Given the description of an element on the screen output the (x, y) to click on. 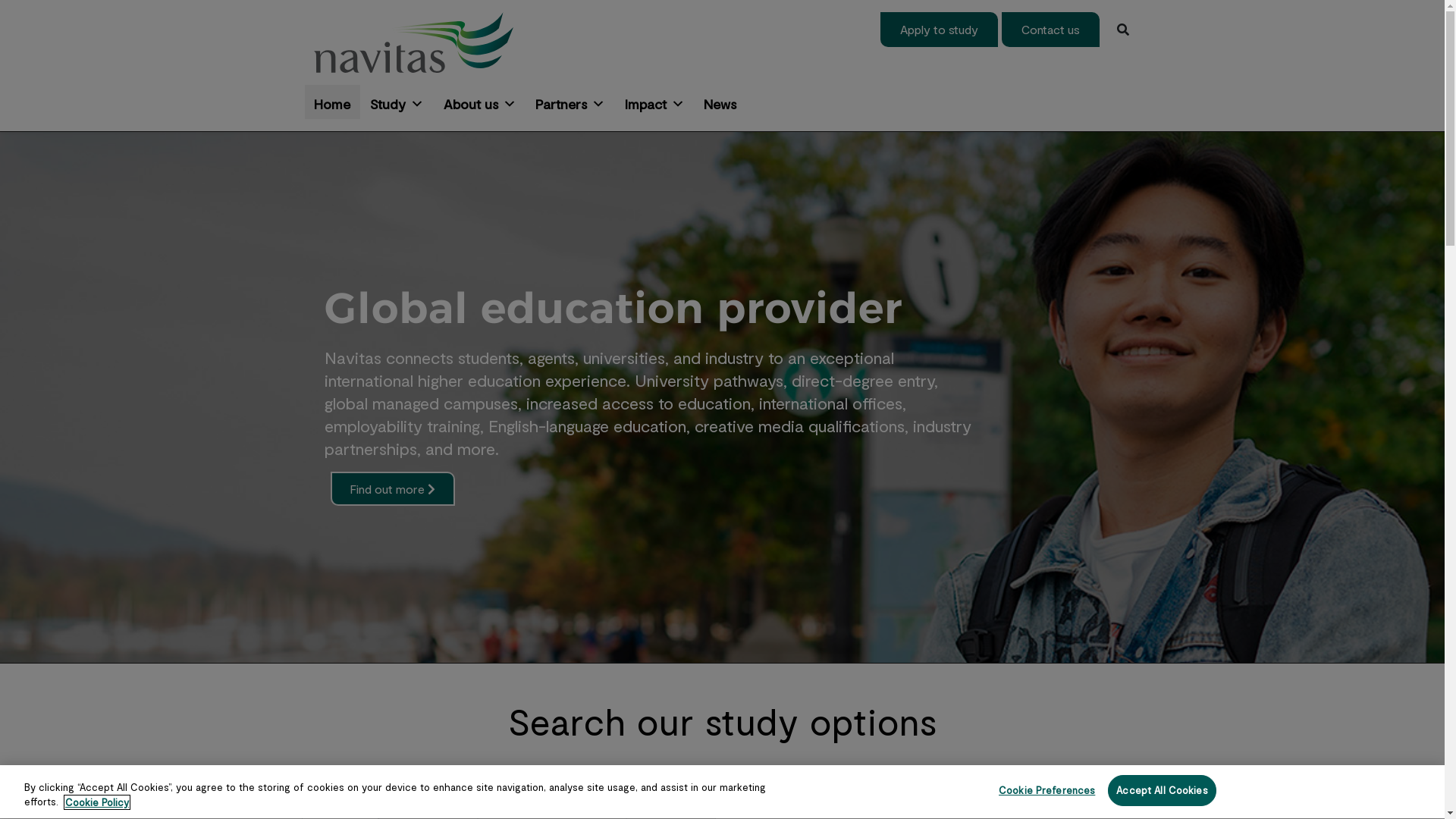
Accept All Cookies Element type: text (1161, 790)
Contact us Element type: text (1049, 29)
Cookie Policy Element type: text (96, 802)
Search Element type: text (1122, 29)
Home Element type: text (332, 101)
Impact Element type: text (654, 101)
Cookie Preferences Element type: text (1046, 790)
Apply to study Element type: text (938, 29)
Study Element type: text (396, 101)
News Element type: text (720, 101)
Find out more Element type: text (392, 488)
About us Element type: text (479, 101)
Partners Element type: text (570, 101)
Navitas Corporate Element type: hover (413, 42)
